Given the description of an element on the screen output the (x, y) to click on. 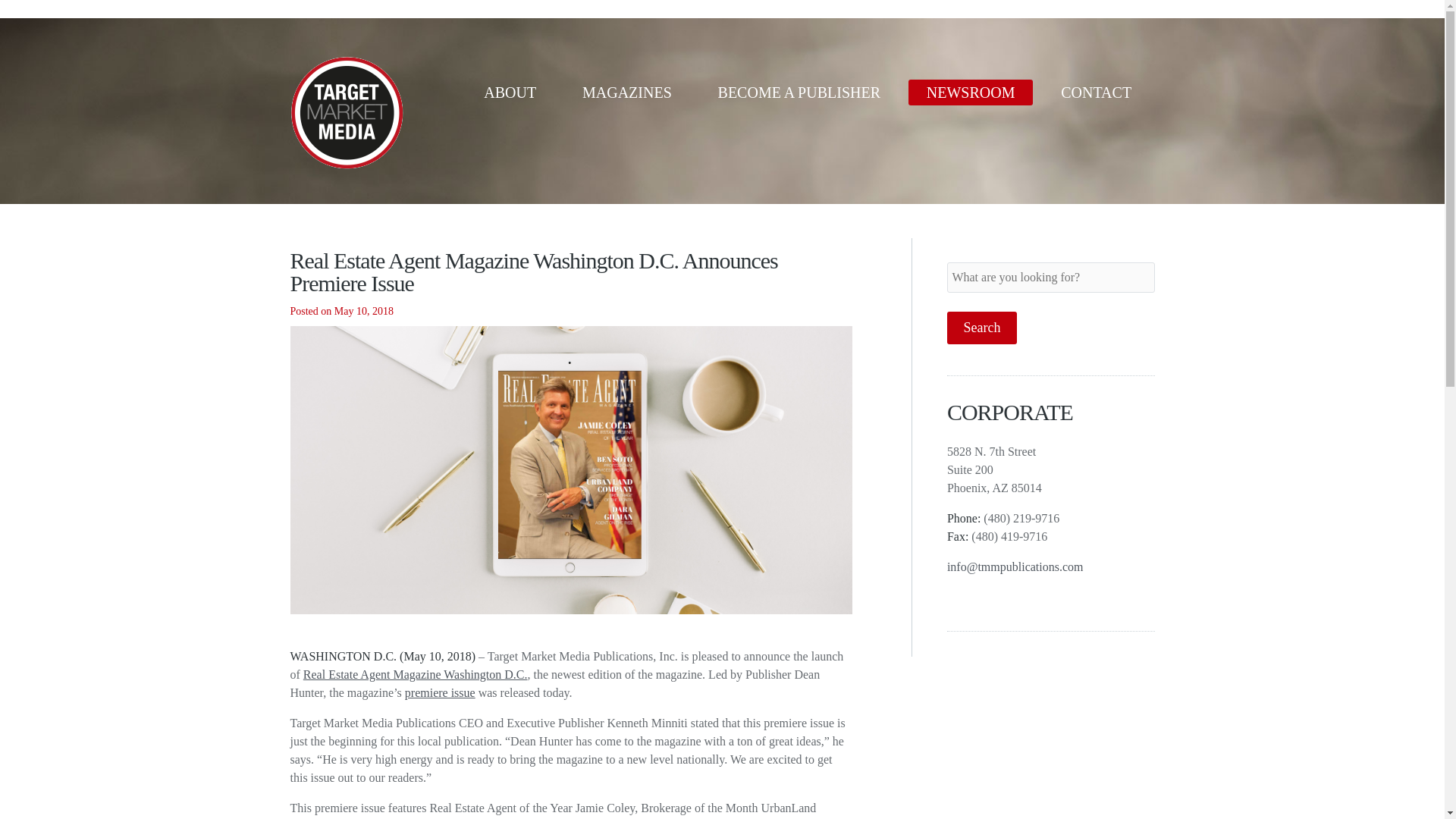
CONTACT (1096, 92)
NEWSROOM (970, 92)
ABOUT (509, 92)
premiere issue (440, 692)
Real Estate Agent Magazine Washington D.C. (414, 674)
Search (981, 327)
Search (981, 327)
MAGAZINES (627, 92)
BECOME A PUBLISHER (799, 92)
